Given the description of an element on the screen output the (x, y) to click on. 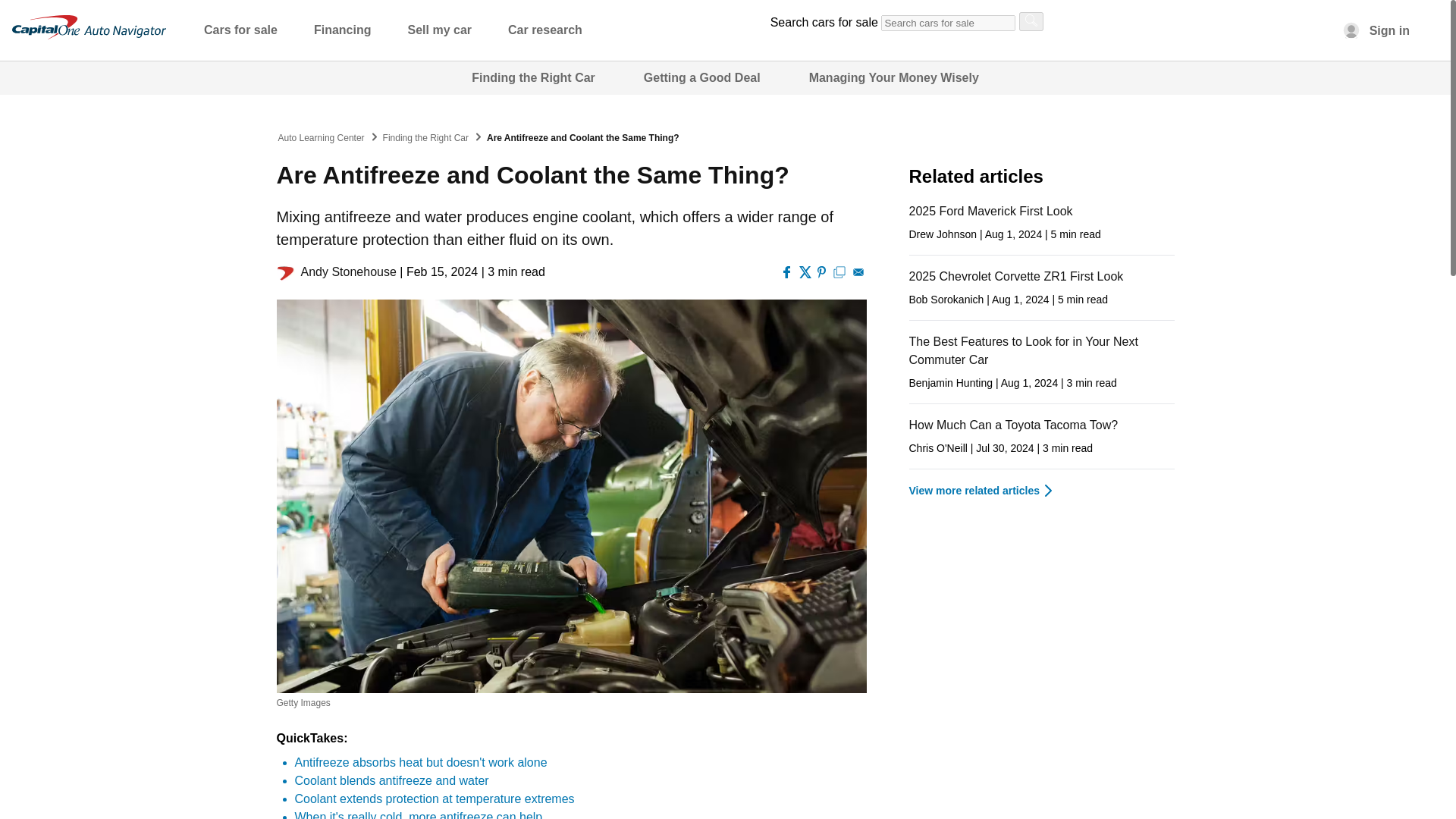
Coolant extends protection at temperature extremes (433, 798)
Sell my car (447, 32)
Andy Stonehouse (347, 271)
Navigation Menu (400, 31)
Sign in (1374, 30)
Getting a Good Deal (701, 77)
Cars for sale (247, 32)
Auto Learning Center (321, 137)
Finding the Right Car (533, 77)
When it's really cold, more antifreeze can help (417, 814)
Auto Navigator homepage (88, 27)
Coolant blends antifreeze and water (390, 780)
Antifreeze absorbs heat but doesn't work alone (420, 762)
Finding the Right Car (425, 137)
